Given the description of an element on the screen output the (x, y) to click on. 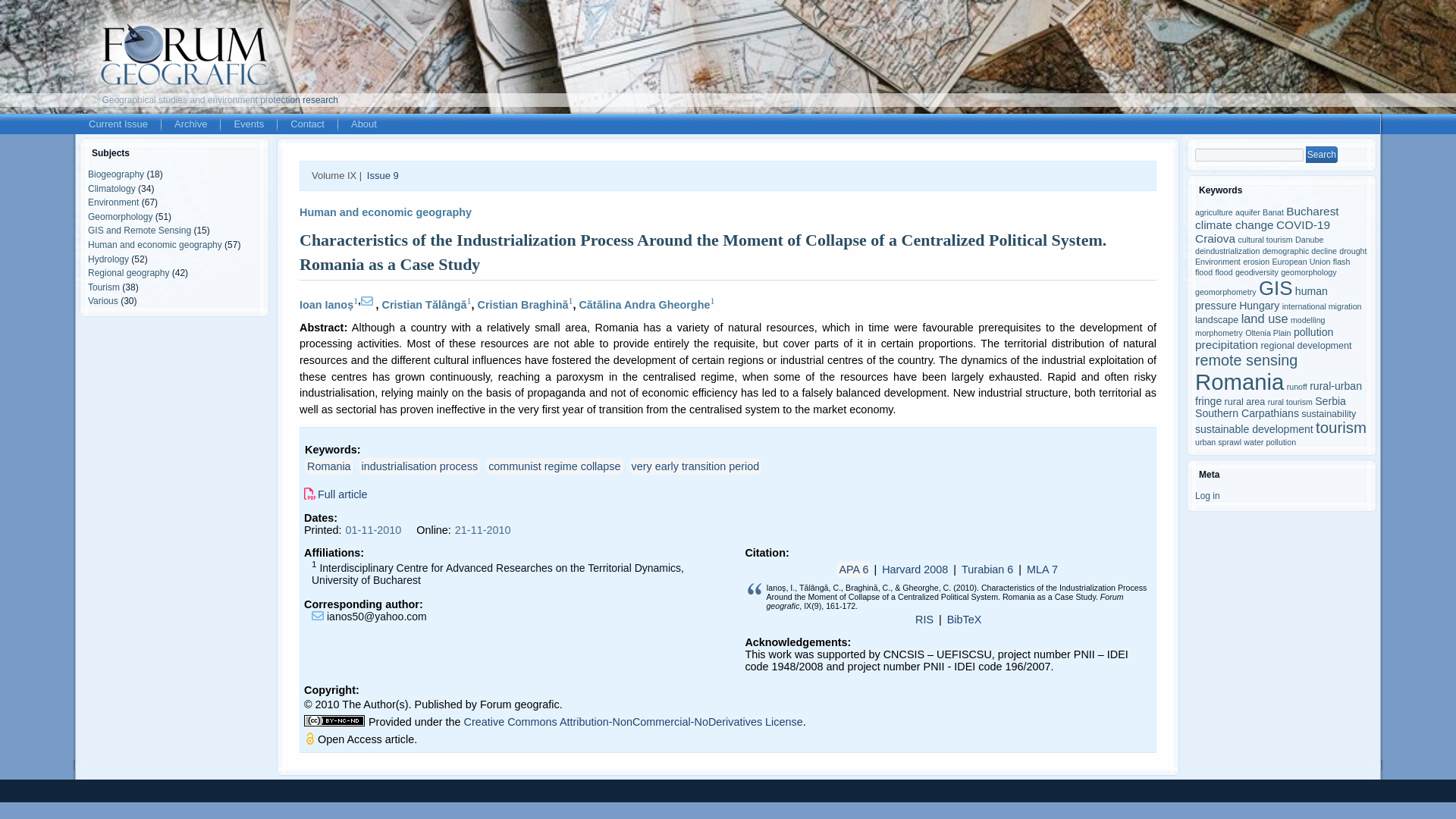
Romania (328, 466)
About (363, 124)
Export as BibTeX (964, 619)
GIS and Remote Sensing (138, 230)
Hydrology (108, 258)
Various (102, 300)
very early transition period (694, 466)
industrialisation process (419, 466)
Human and economic geography (154, 244)
Archive (190, 124)
